Given the description of an element on the screen output the (x, y) to click on. 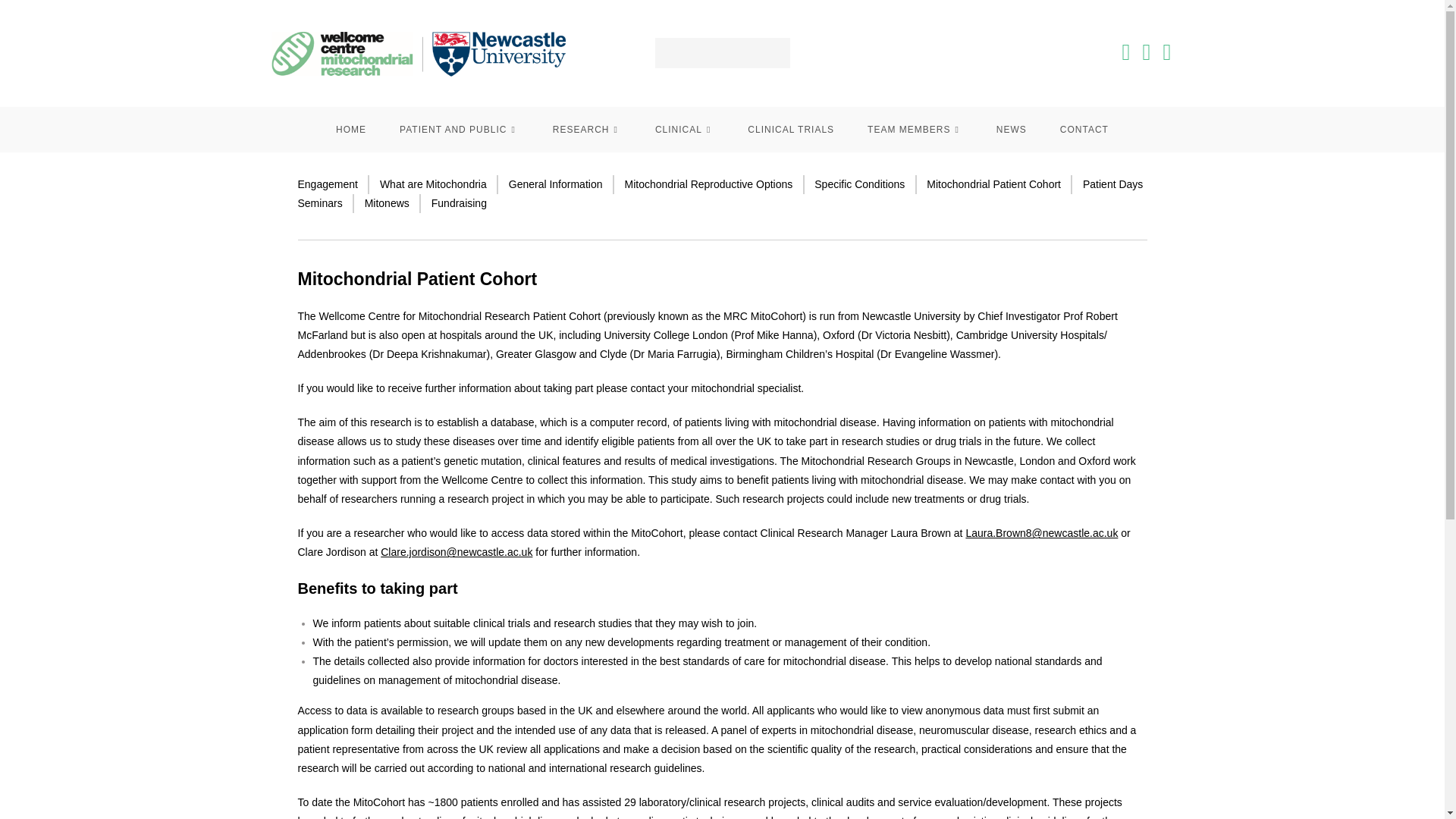
TEAM MEMBERS (914, 129)
HOME (350, 129)
RESEARCH (587, 129)
CLINICAL (684, 129)
CLINICAL TRIALS (790, 129)
PATIENT AND PUBLIC (458, 129)
